Given the description of an element on the screen output the (x, y) to click on. 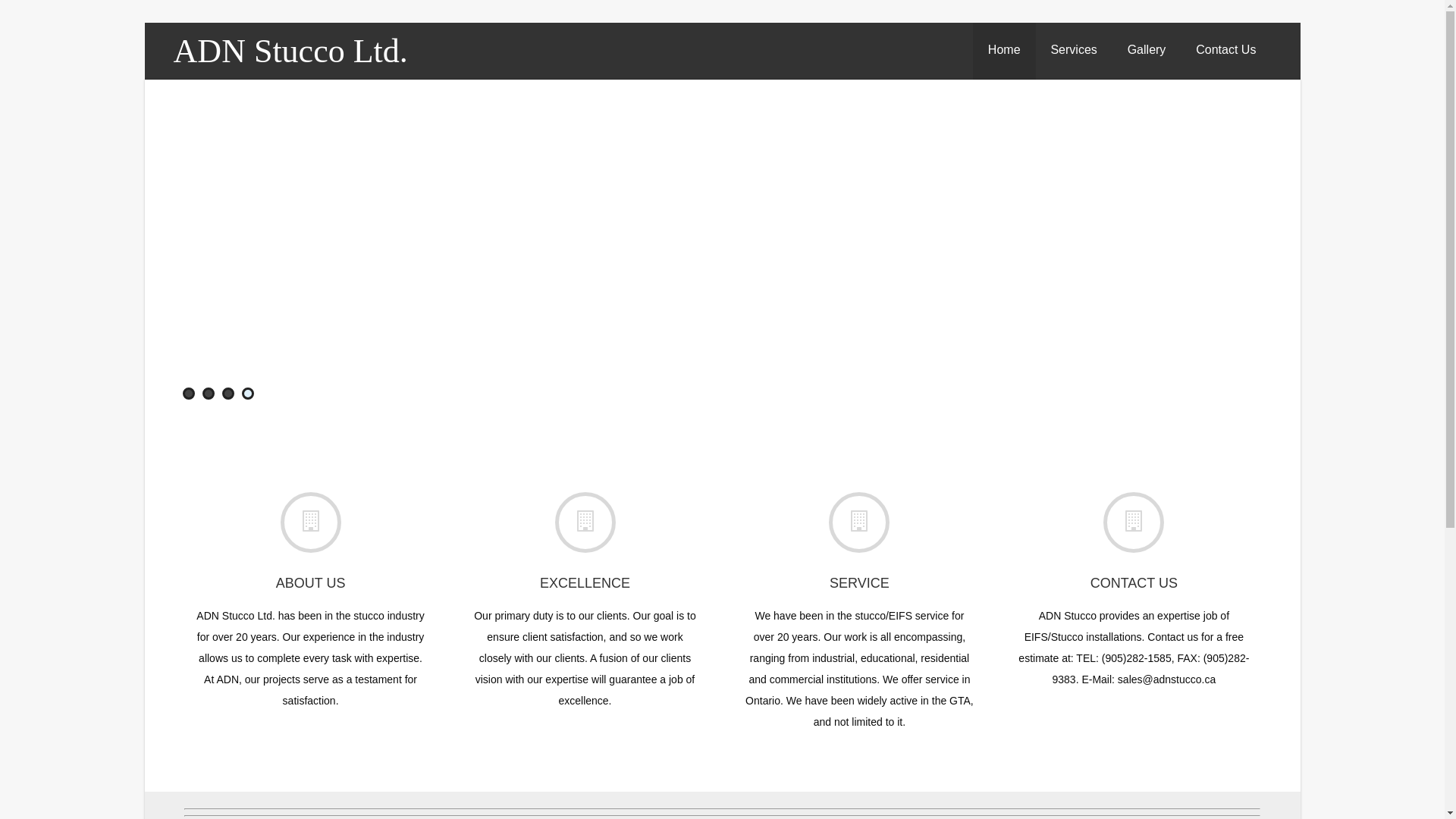
1 Element type: text (188, 393)
Services Element type: text (1073, 49)
4 Element type: text (247, 393)
Gallery Element type: text (1146, 49)
Home Element type: text (1004, 49)
Contact Us Element type: text (1225, 49)
3 Element type: text (227, 393)
2 Element type: text (207, 393)
ADN Stucco Ltd. Element type: text (290, 50)
